Given the description of an element on the screen output the (x, y) to click on. 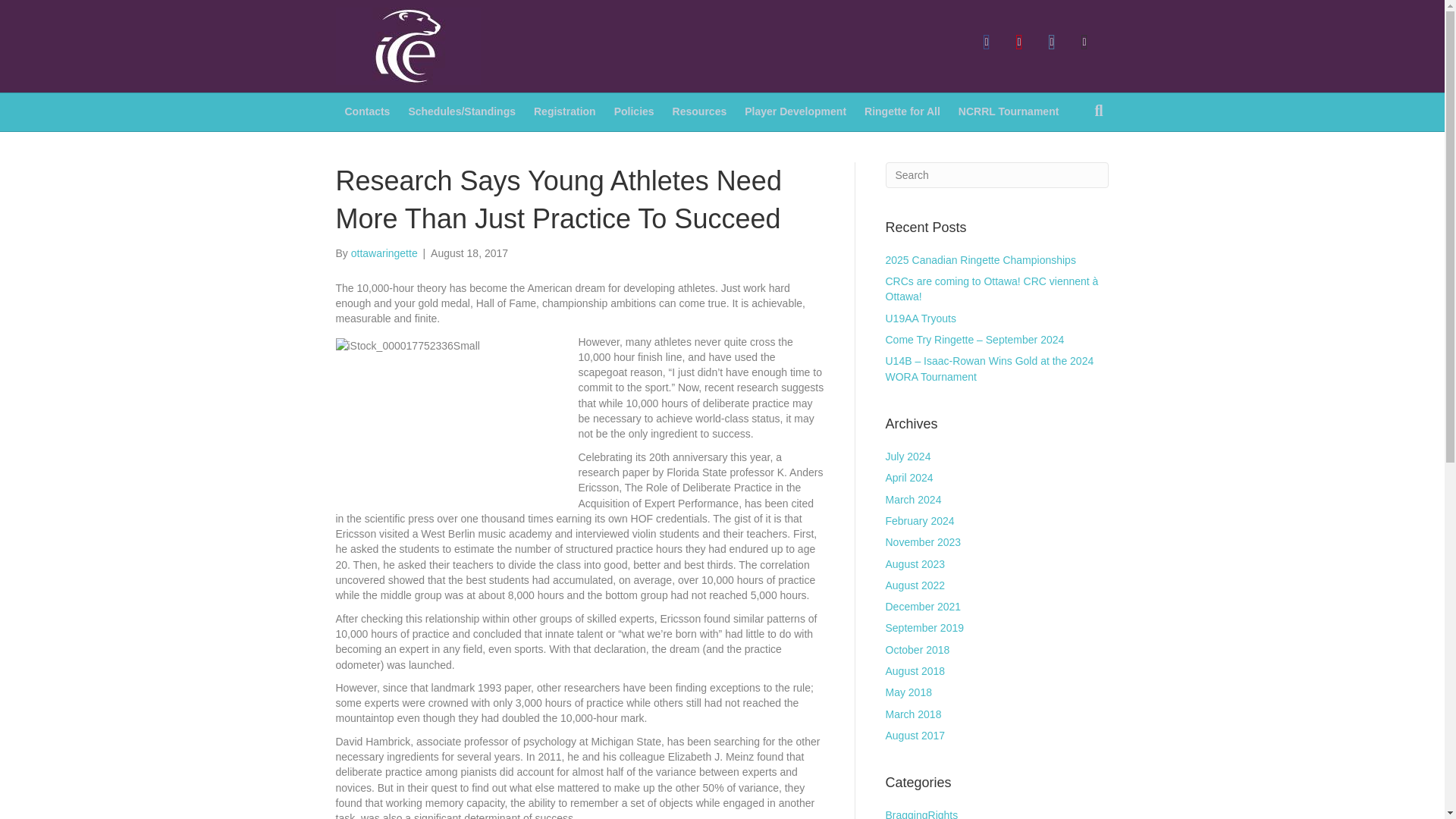
Type and press Enter to search. (997, 175)
Search (997, 175)
Search (997, 175)
